Given the description of an element on the screen output the (x, y) to click on. 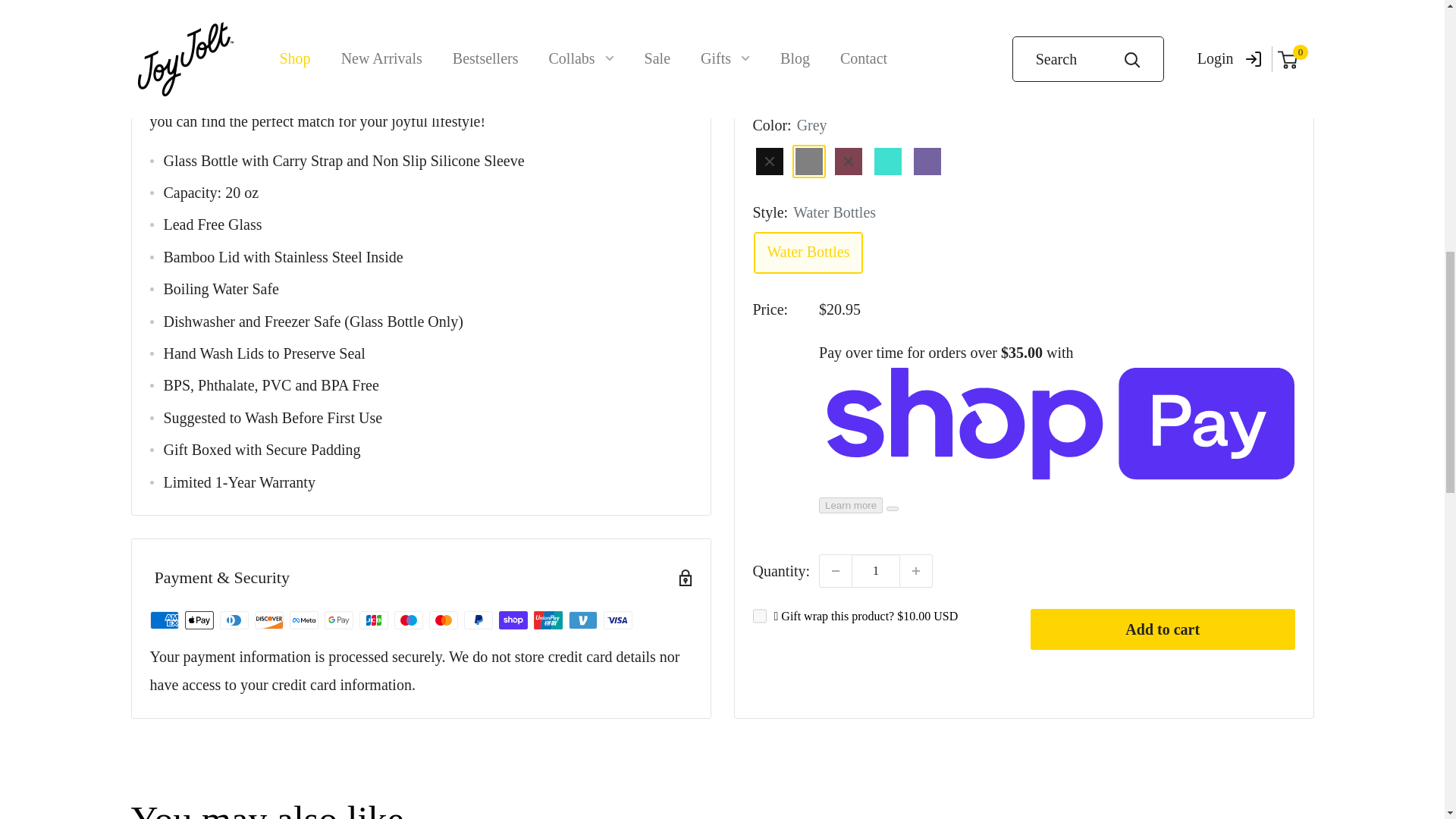
44231007207645 (758, 31)
1 (875, 1)
Increase quantity by 1 (915, 1)
Decrease quantity by 1 (835, 1)
